Given the description of an element on the screen output the (x, y) to click on. 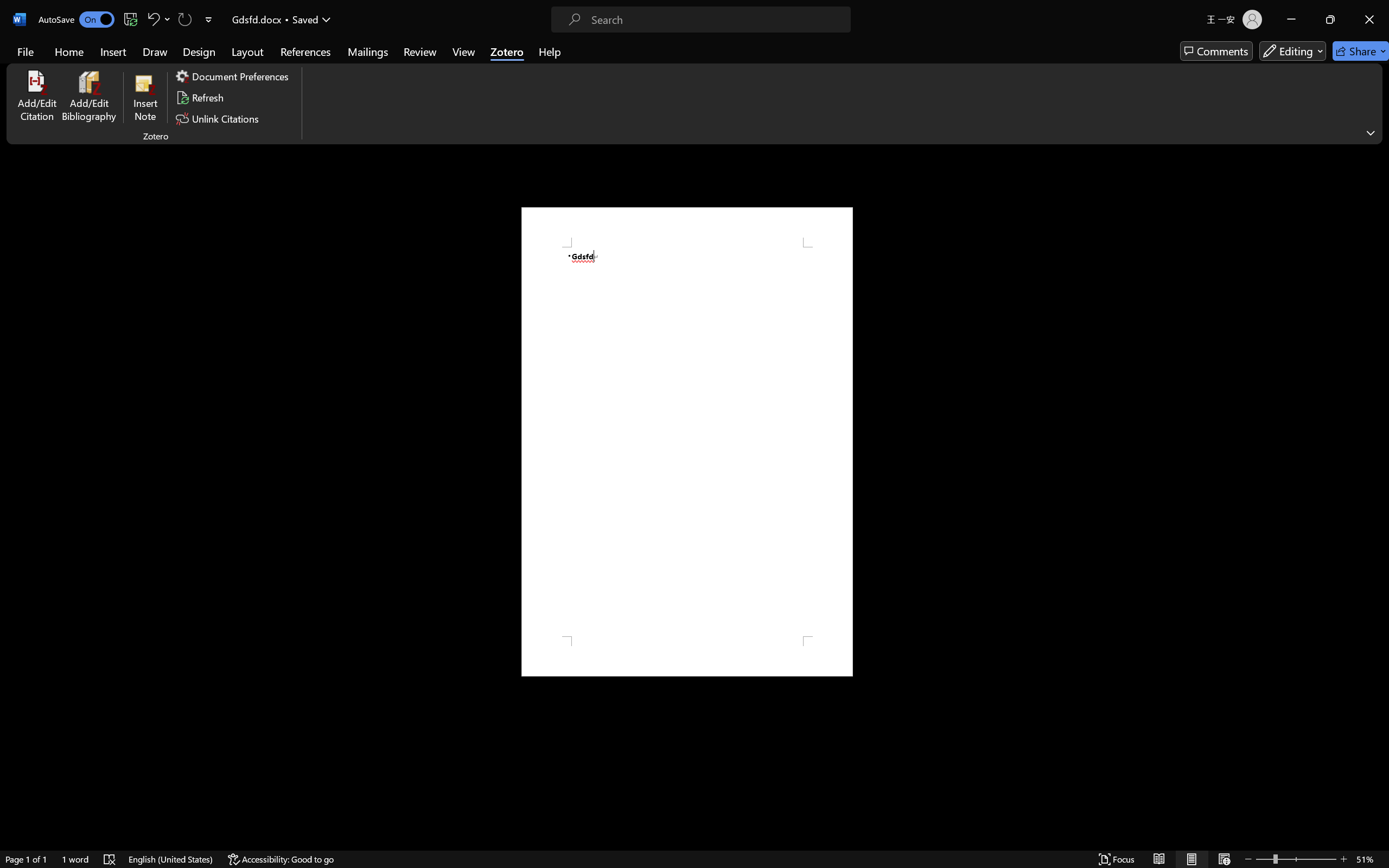
Page 1 content (686, 441)
